Given the description of an element on the screen output the (x, y) to click on. 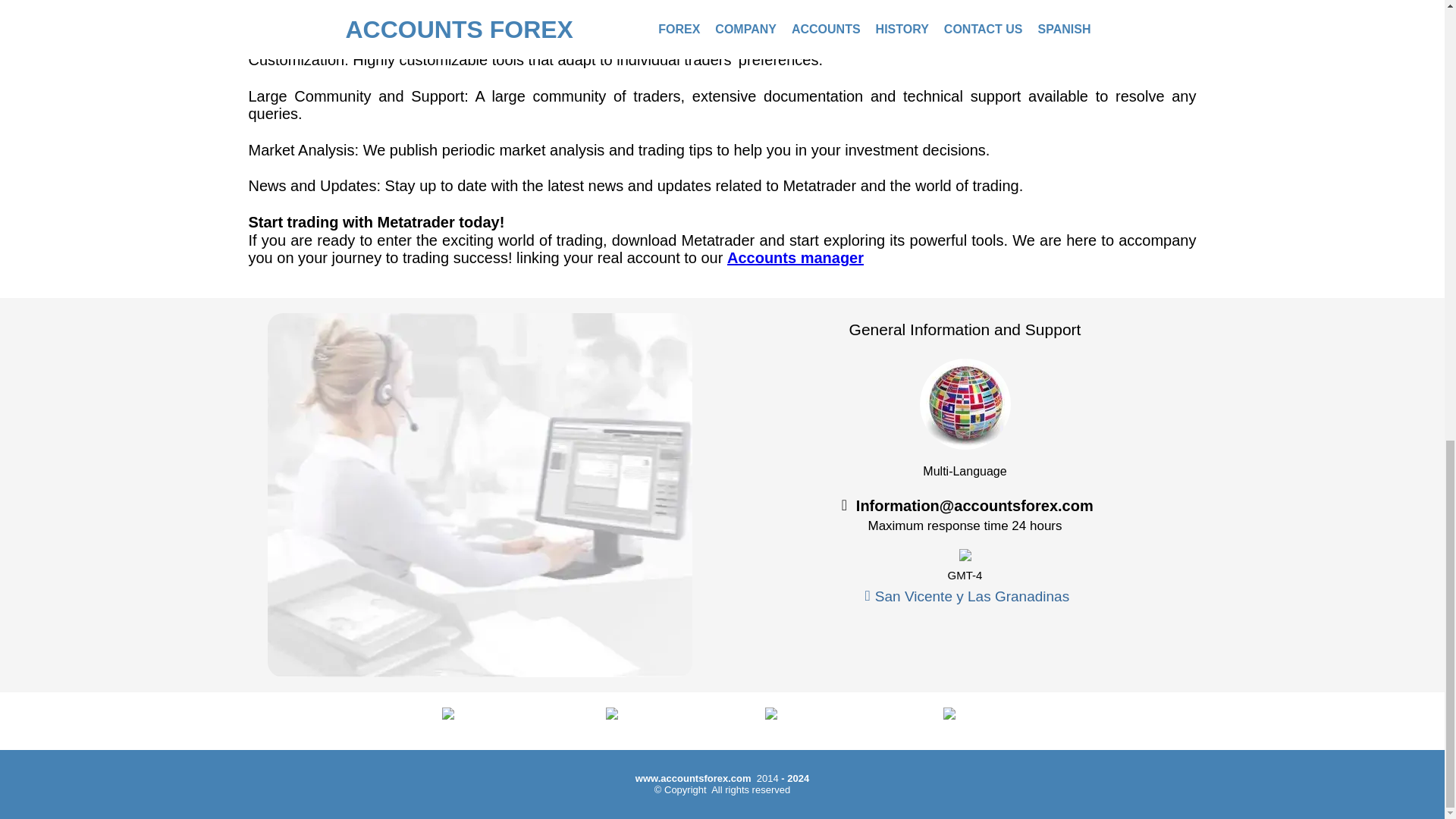
Hour Forex (964, 554)
Accounts manager (794, 257)
Bitcoin (641, 715)
Neteller (803, 714)
Multi-Language (964, 403)
Skrill (964, 714)
Paypal (479, 717)
